Given the description of an element on the screen output the (x, y) to click on. 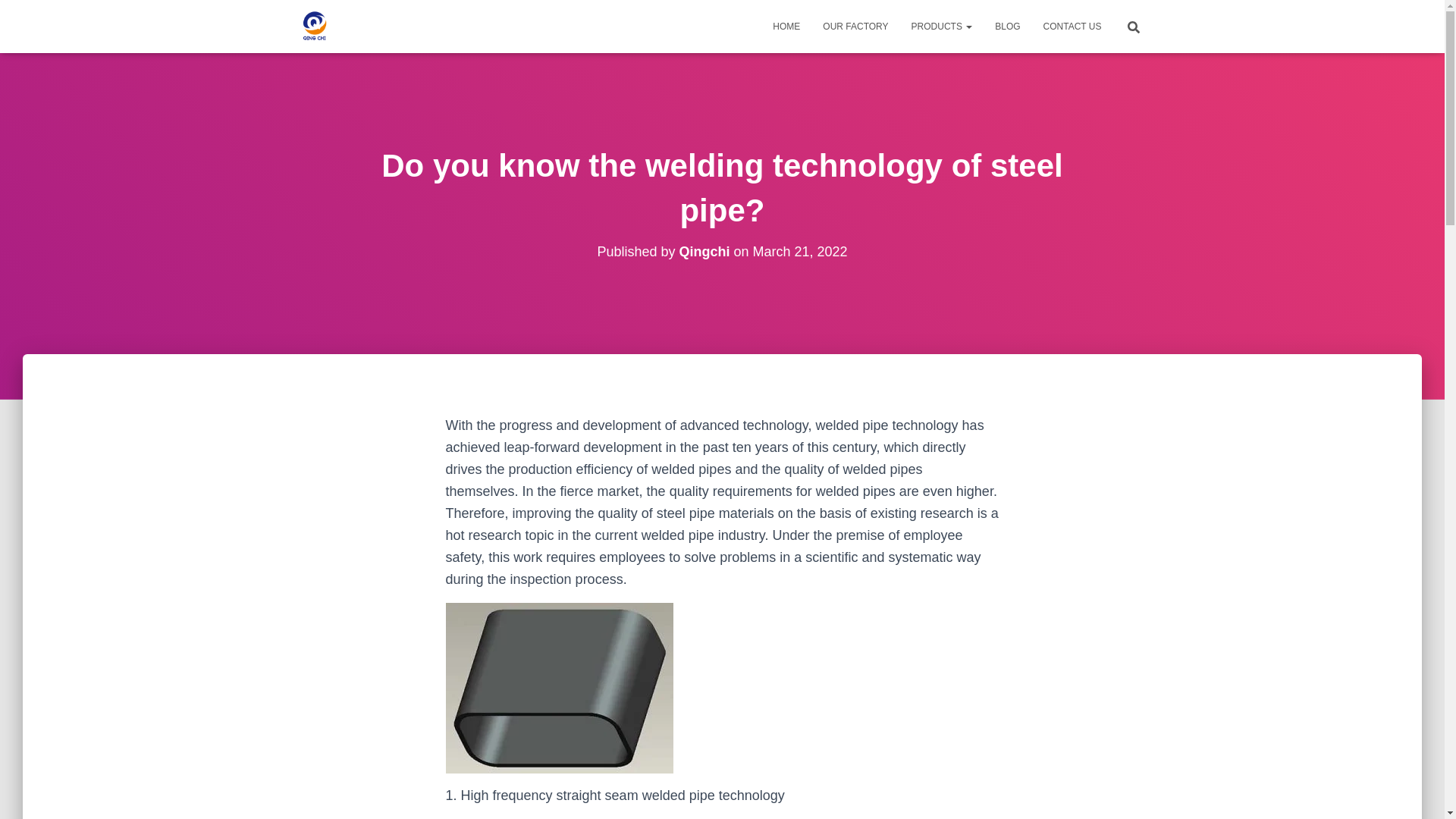
BLOG (1007, 26)
Home (785, 26)
CONTACT US (1072, 26)
Our Factory (854, 26)
HOME (785, 26)
Products (941, 26)
Contact us (1072, 26)
Blog (1007, 26)
OUR FACTORY (854, 26)
Qingchi (703, 251)
